Given the description of an element on the screen output the (x, y) to click on. 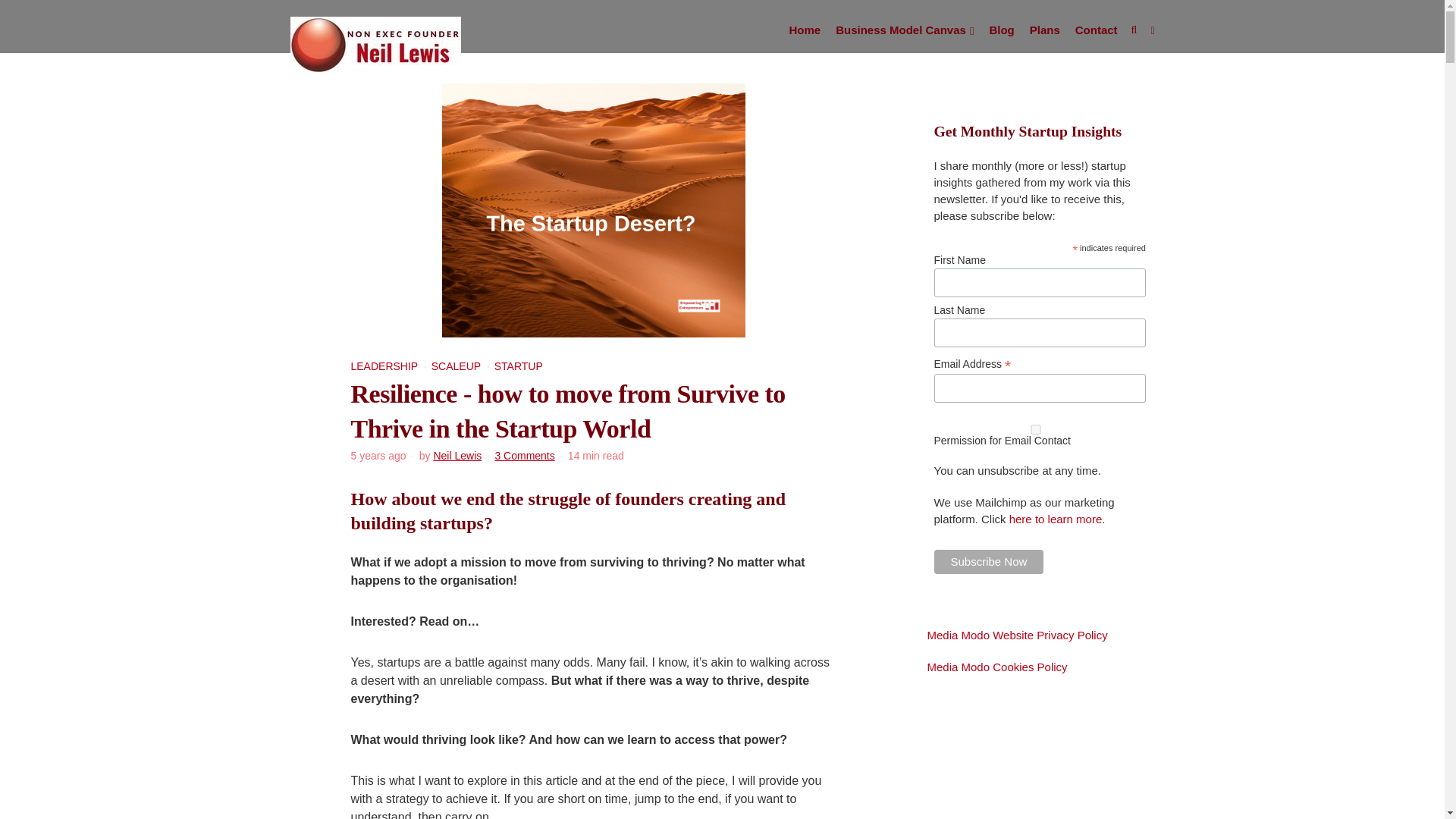
Subscribe Now (988, 561)
Y (1035, 429)
Neil Lewis - Media Modo - Startup Mentor (374, 43)
Business Model Canvas (904, 30)
SCALEUP (455, 366)
3 Comments (524, 455)
LEADERSHIP (383, 366)
Neil Lewis (456, 455)
STARTUP (519, 366)
